Given the description of an element on the screen output the (x, y) to click on. 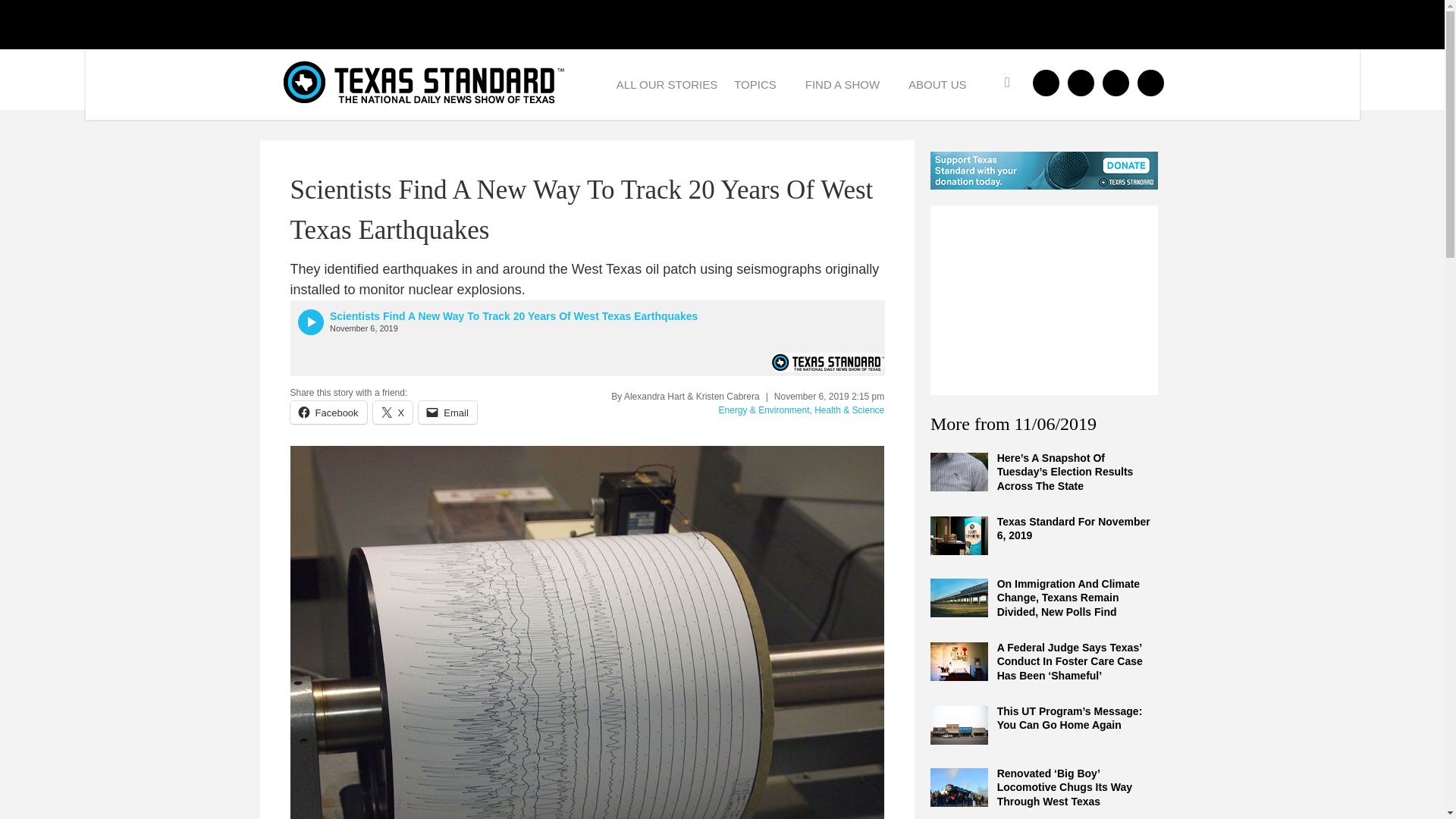
3rd party ad content (1043, 299)
ALL OUR STORIES (666, 82)
Media player (586, 337)
Click to share on X (392, 412)
TOPICS (761, 82)
Click to share on Facebook (327, 412)
Click to email a link to a friend (448, 412)
